Given the description of an element on the screen output the (x, y) to click on. 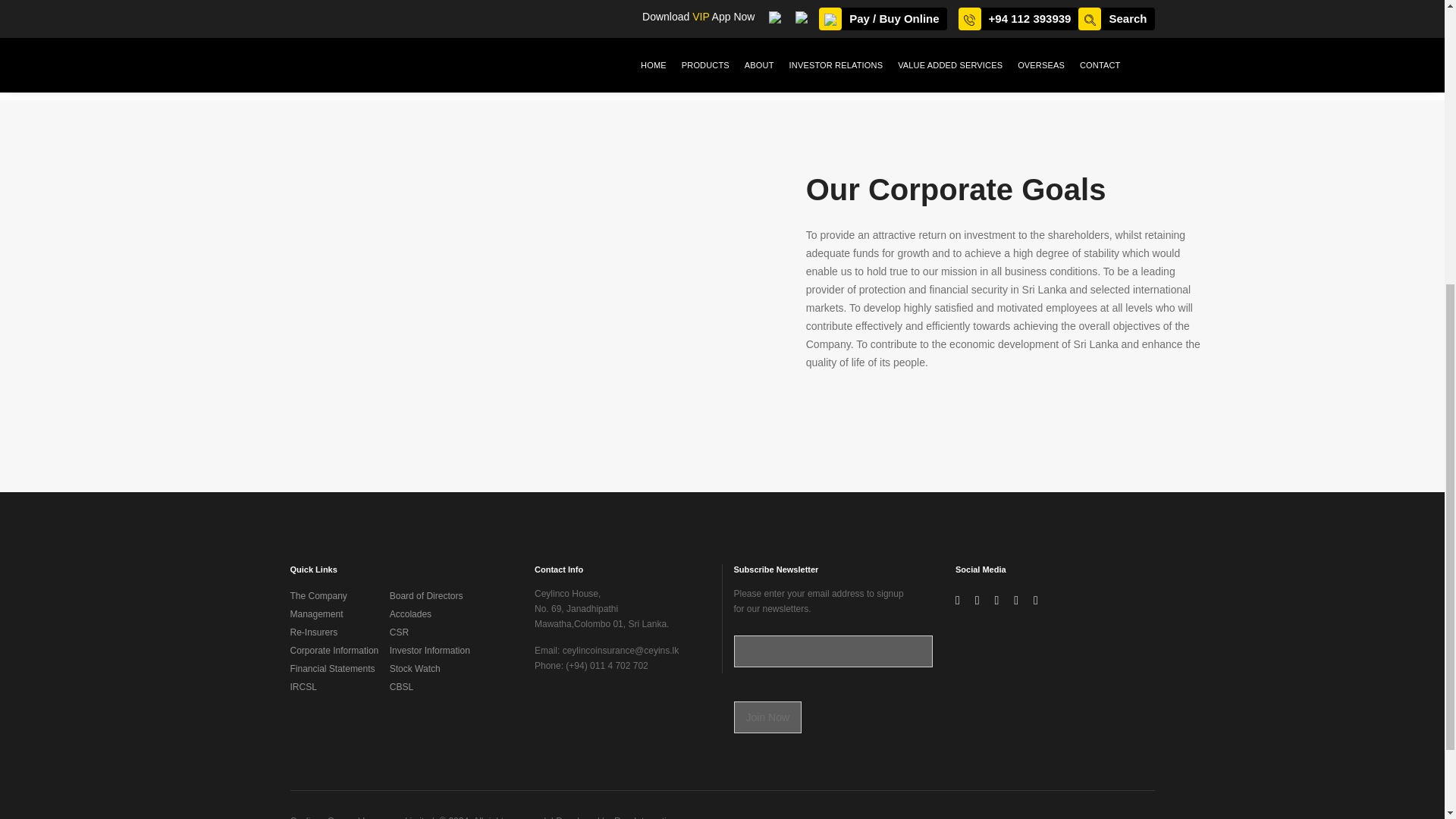
Join Now (767, 717)
